Given the description of an element on the screen output the (x, y) to click on. 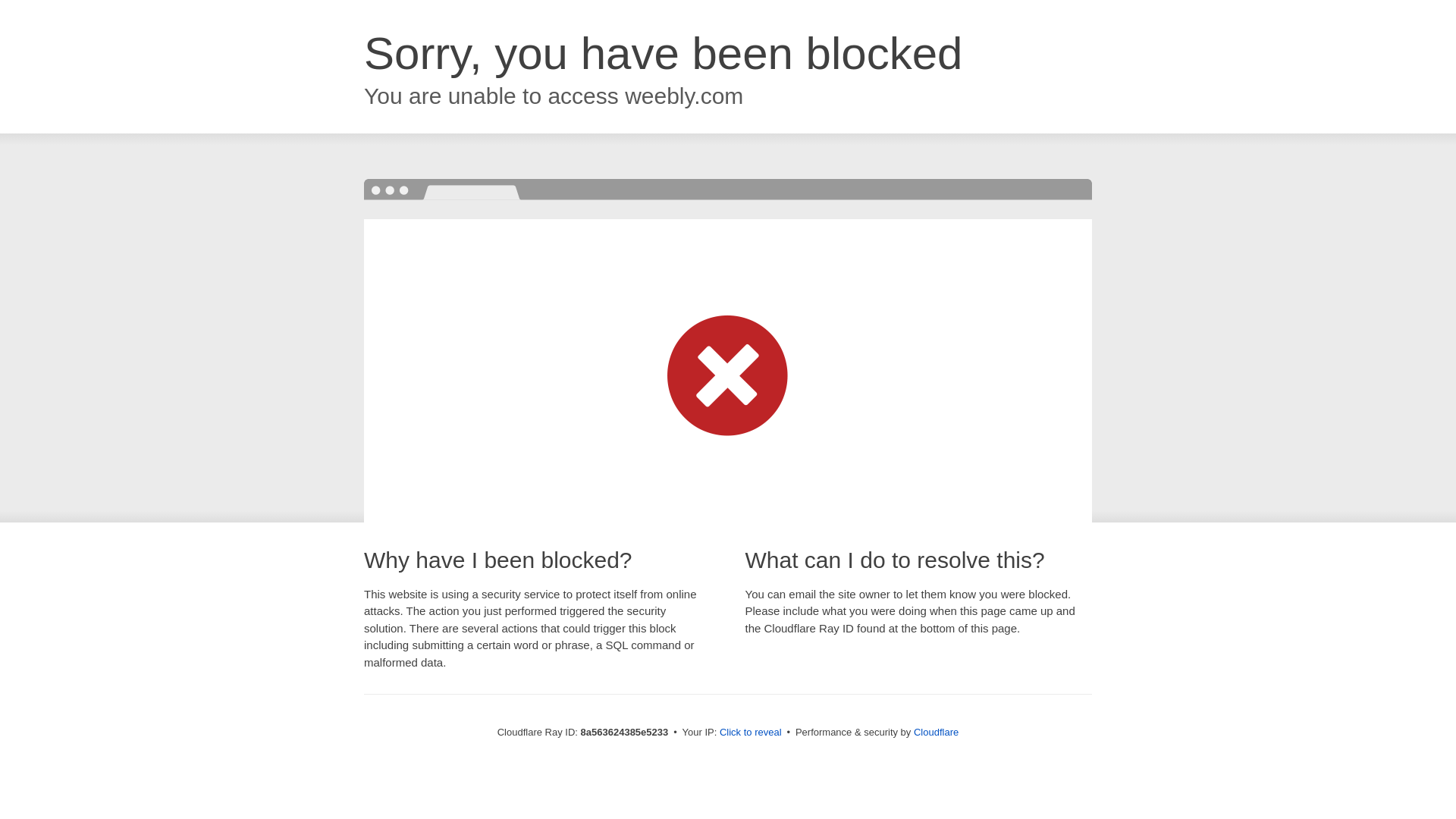
Cloudflare (936, 731)
Click to reveal (750, 732)
